Given the description of an element on the screen output the (x, y) to click on. 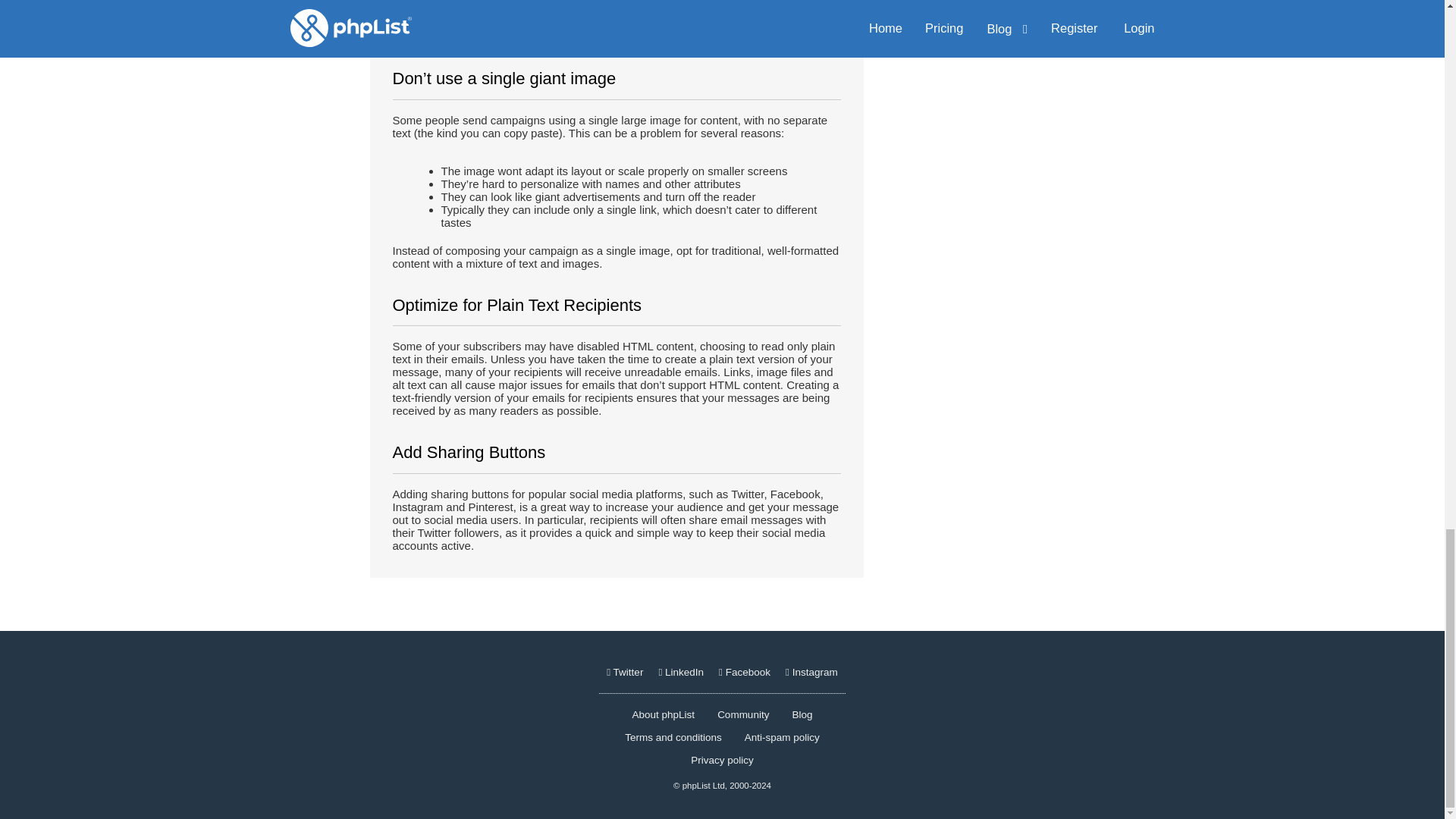
alt (468, 36)
